Given the description of an element on the screen output the (x, y) to click on. 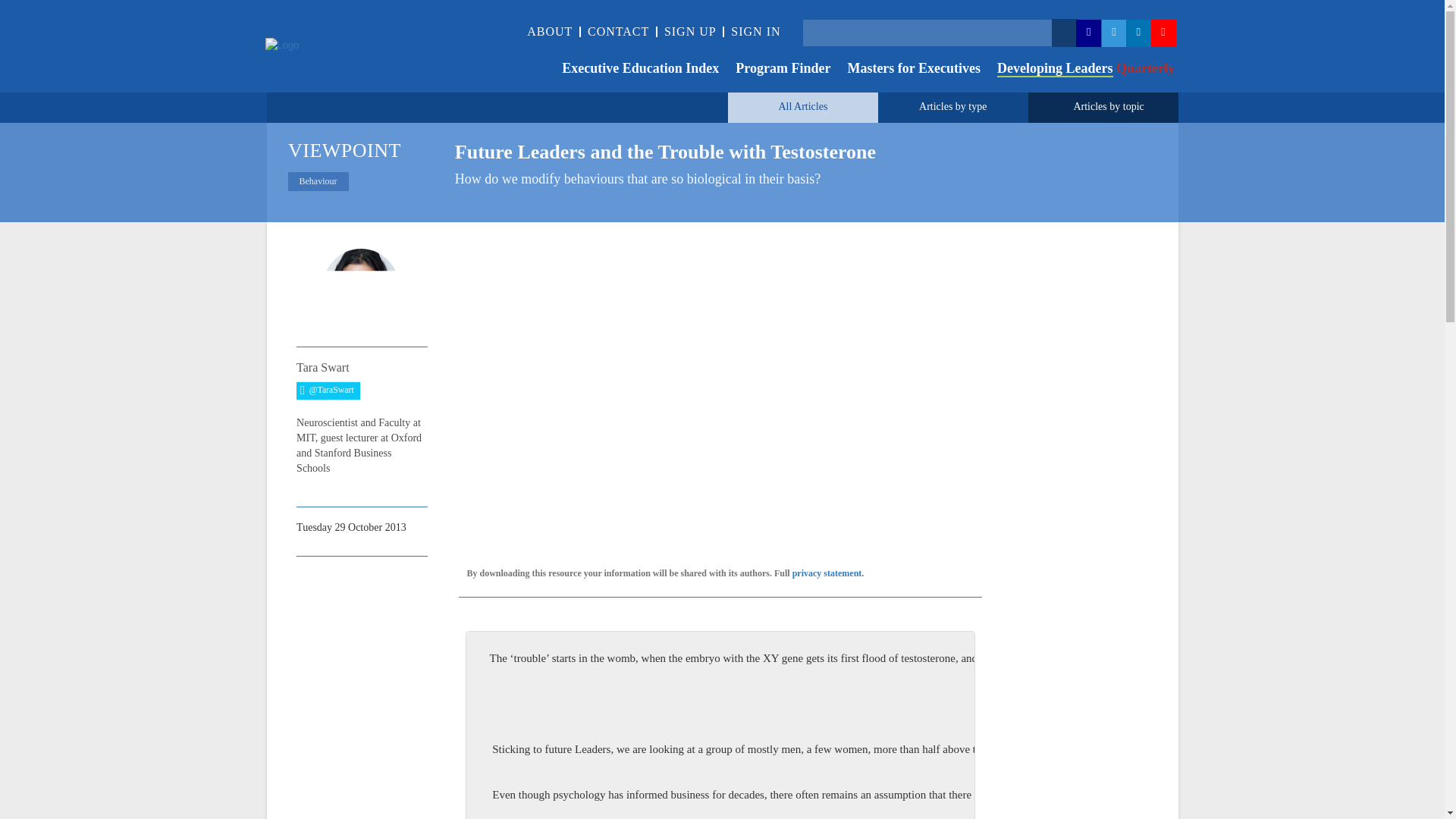
SIGN IN (755, 31)
Developing Leaders Quarterly (1076, 70)
Program Finder (774, 70)
All Articles (802, 106)
Comment (349, 578)
Articles by topic (1107, 106)
share (330, 578)
Articles by type (952, 106)
SIGN UP (689, 31)
favourite (311, 578)
ABOUT (549, 31)
print (368, 578)
CONTACT (618, 31)
Executive Education Index (631, 70)
Masters for Executives (904, 70)
